Given the description of an element on the screen output the (x, y) to click on. 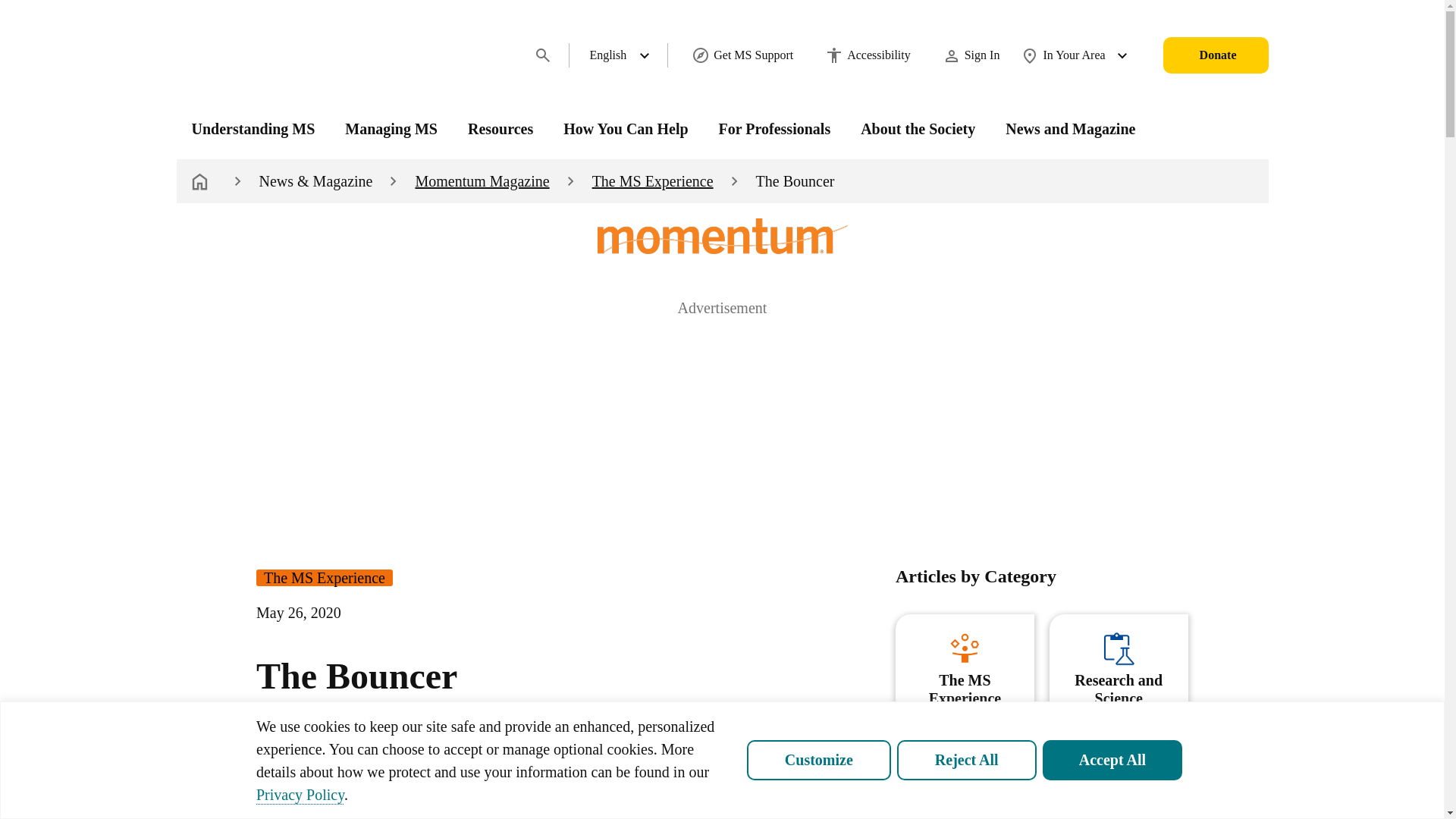
Open search (542, 54)
National Multiple Sclerosis Society Logo (259, 55)
National Multiple Sclerosis Society Logo (259, 55)
